Given the description of an element on the screen output the (x, y) to click on. 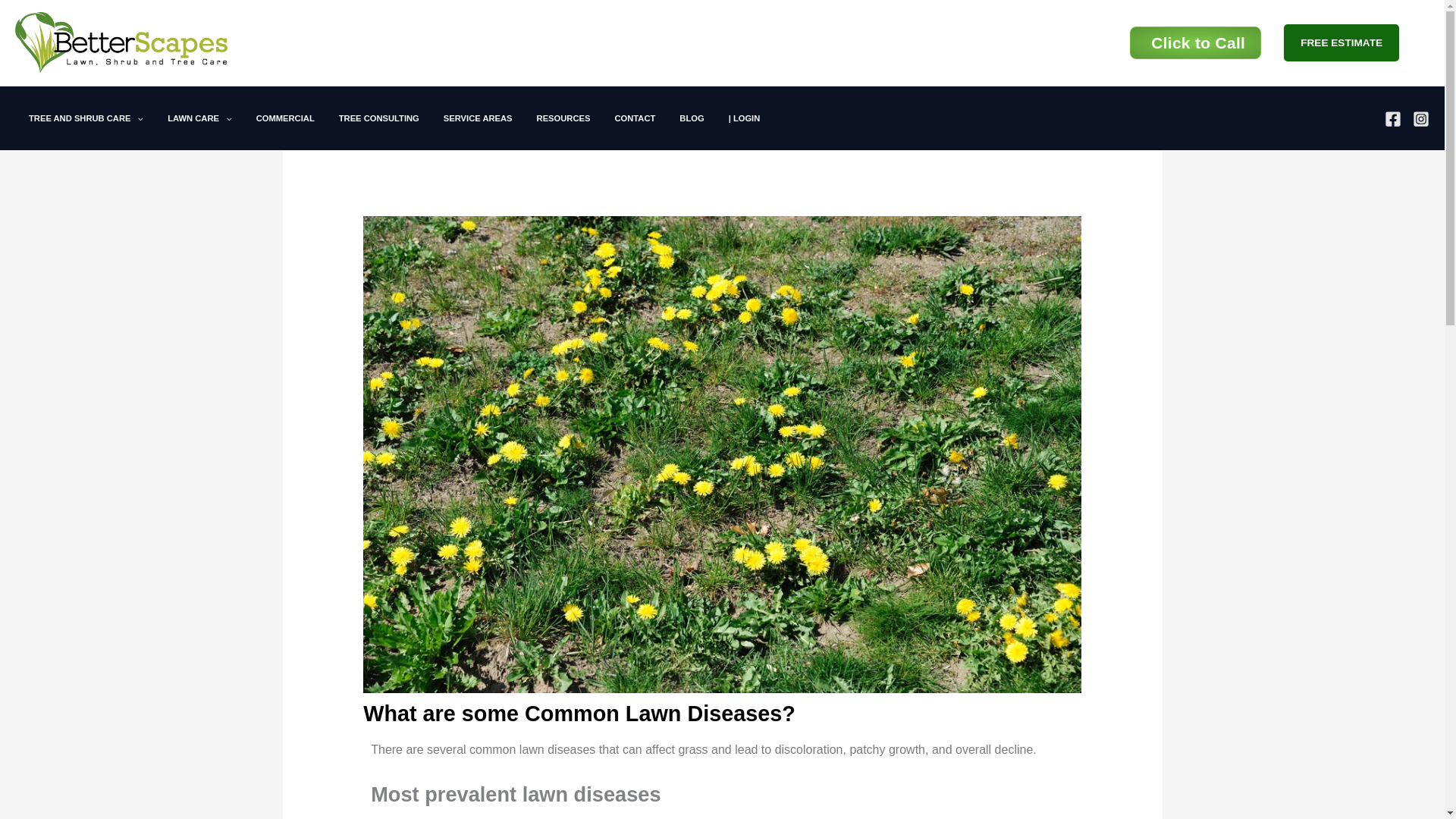
TREE CONSULTING (378, 117)
CONTACT (634, 117)
Click to Call (1194, 42)
RESOURCES (563, 117)
LAWN CARE (199, 117)
FREE ESTIMATE (1356, 42)
SERVICE AREAS (477, 117)
COMMERCIAL (285, 117)
TREE AND SHRUB CARE (85, 117)
